Given the description of an element on the screen output the (x, y) to click on. 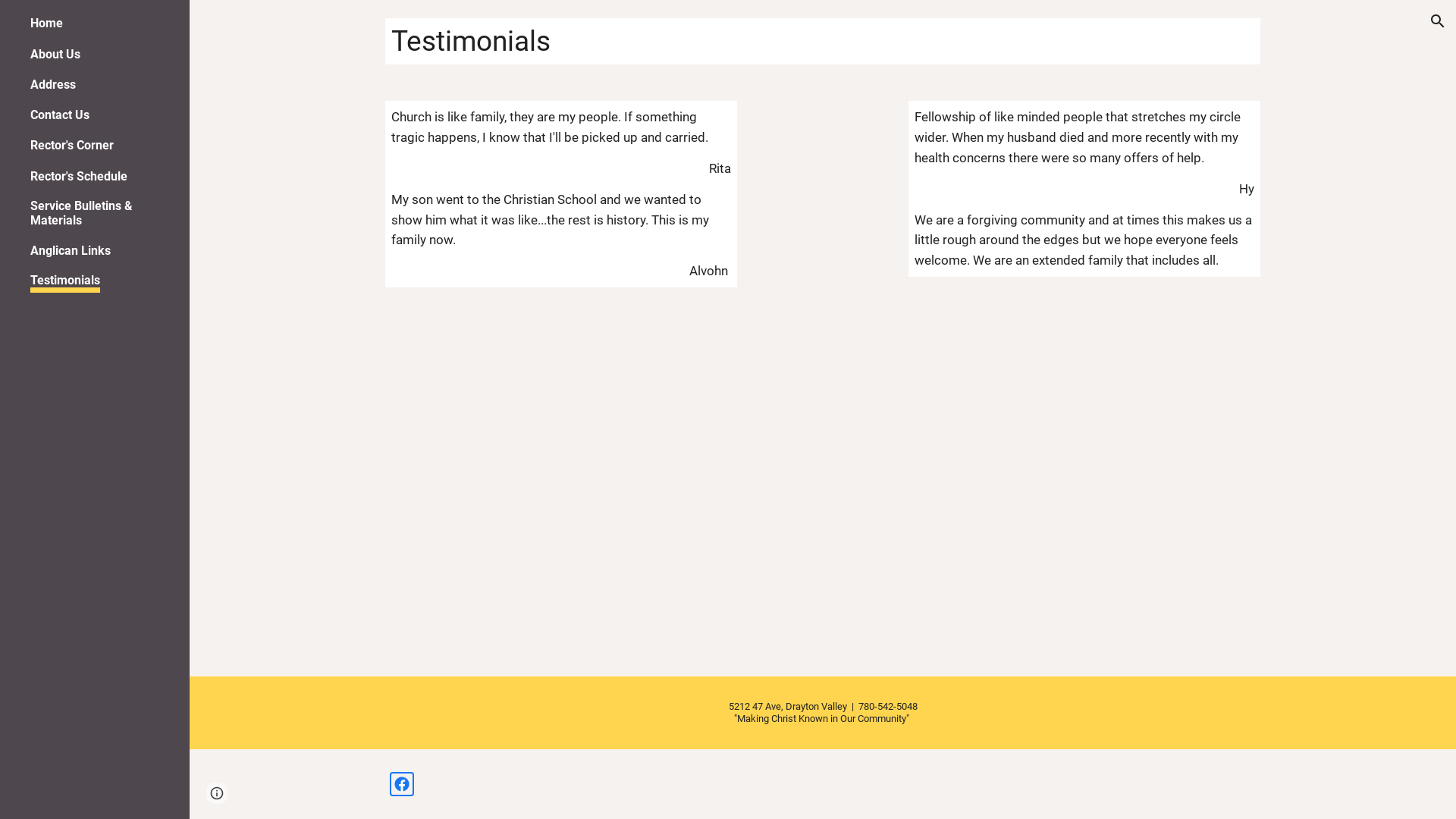
Rector's Corner Element type: text (71, 145)
Rector's Schedule Element type: text (78, 176)
Testimonials Element type: text (65, 282)
Address Element type: text (52, 84)
Home Element type: text (46, 22)
About Us Element type: text (55, 54)
Service Bulletins & Materials Element type: text (99, 212)
Anglican Links Element type: text (70, 250)
Contact Us Element type: text (59, 114)
